Given the description of an element on the screen output the (x, y) to click on. 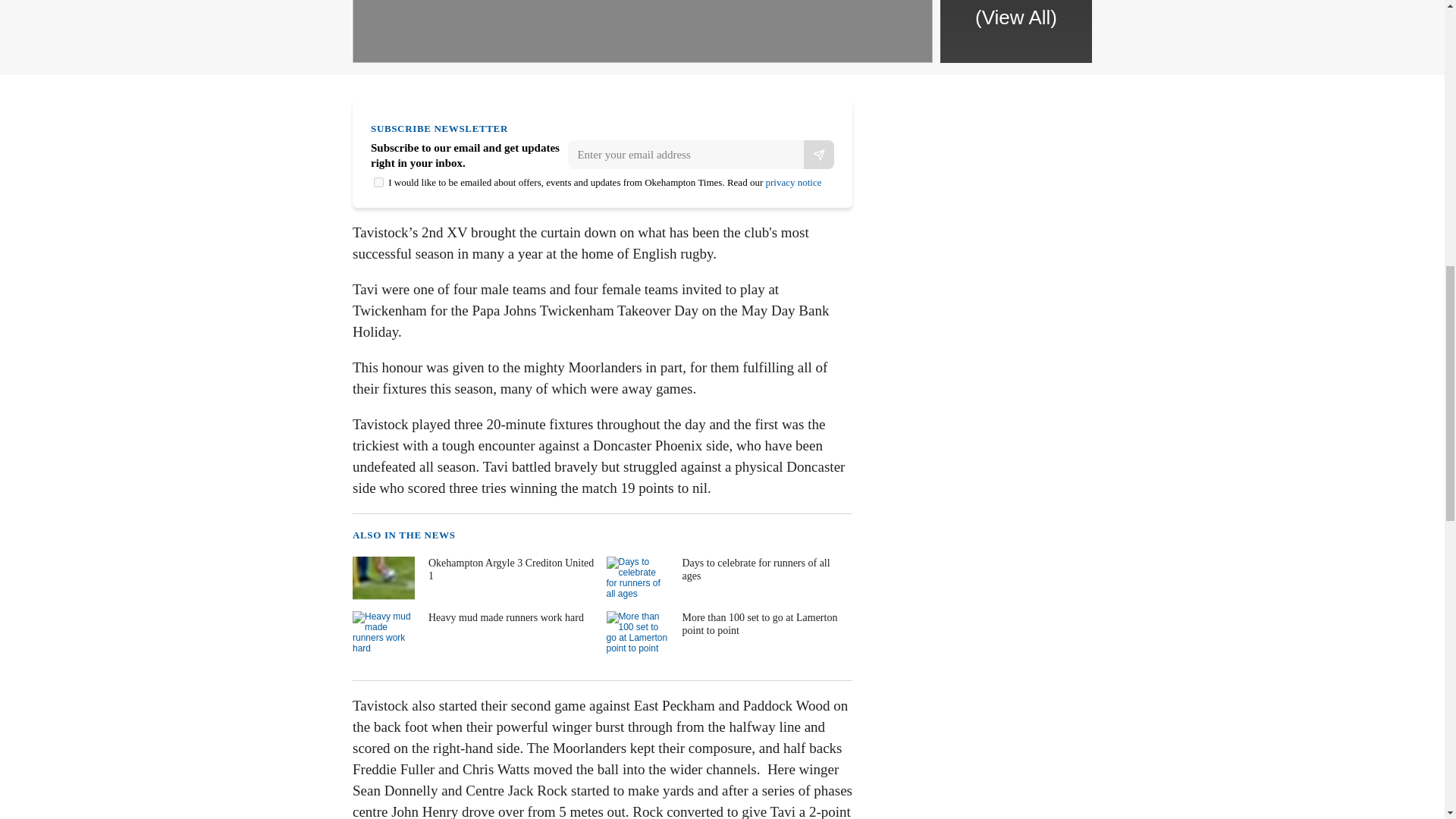
More than 100 set to go at Lamerton point to point (727, 635)
on (379, 182)
privacy notice (793, 182)
Days to celebrate for runners of all ages (727, 581)
Heavy mud made runners work hard (473, 635)
Okehampton Argyle 3 Crediton United 1 (473, 581)
